Given the description of an element on the screen output the (x, y) to click on. 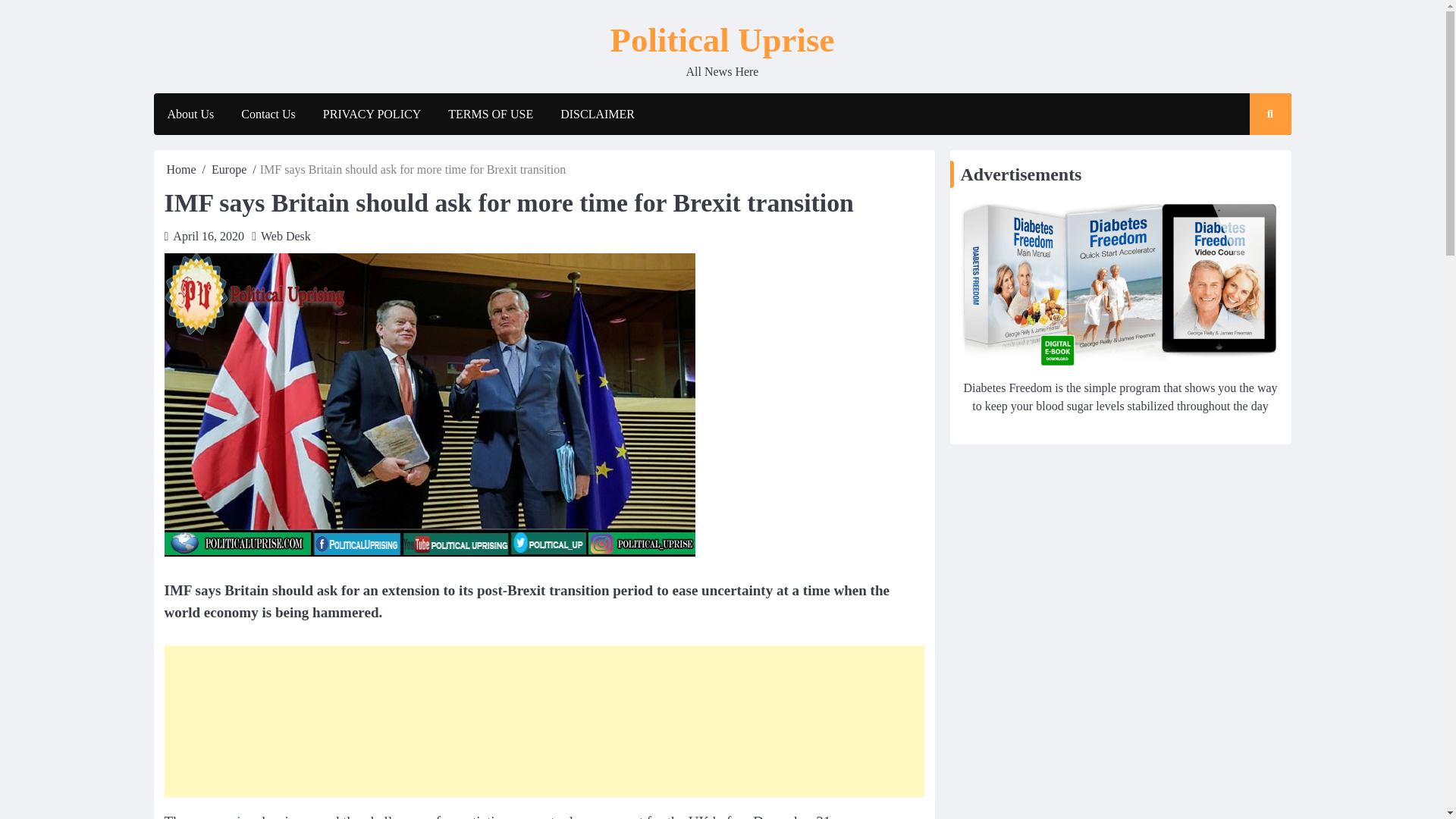
Europe (228, 169)
April 16, 2020 (208, 236)
Contact Us (267, 114)
TERMS OF USE (490, 114)
Political Uprise (722, 39)
Web Desk (285, 236)
About Us (189, 114)
coronavirus (224, 816)
Advertisement (543, 720)
Advertisements (1119, 283)
